Given the description of an element on the screen output the (x, y) to click on. 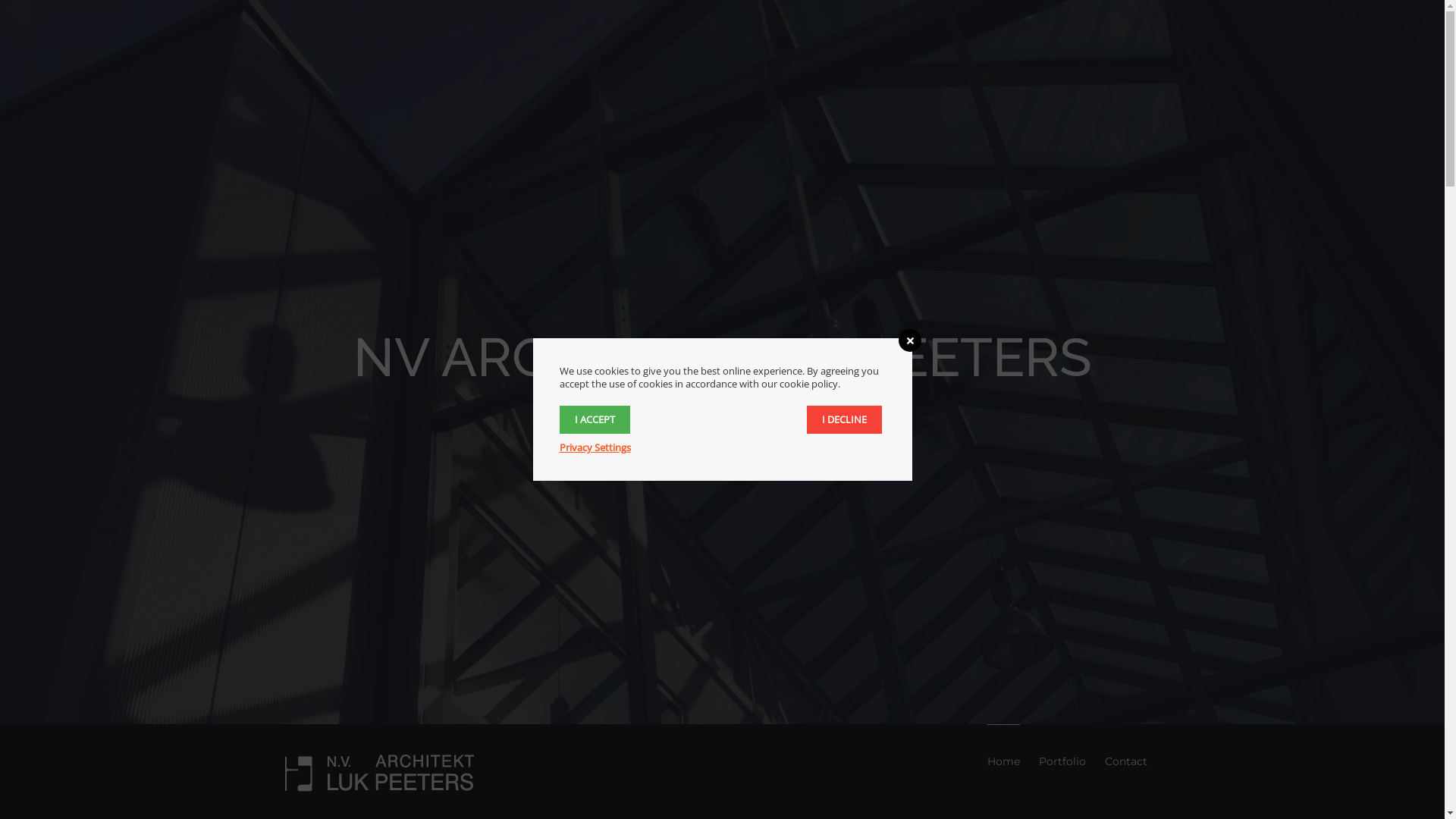
I DECLINE Element type: text (843, 419)
Privacy Settings Element type: text (594, 447)
Portfolio Element type: text (1061, 760)
Contact Element type: text (1125, 760)
Home Element type: text (1003, 760)
I ACCEPT Element type: text (594, 419)
